Given the description of an element on the screen output the (x, y) to click on. 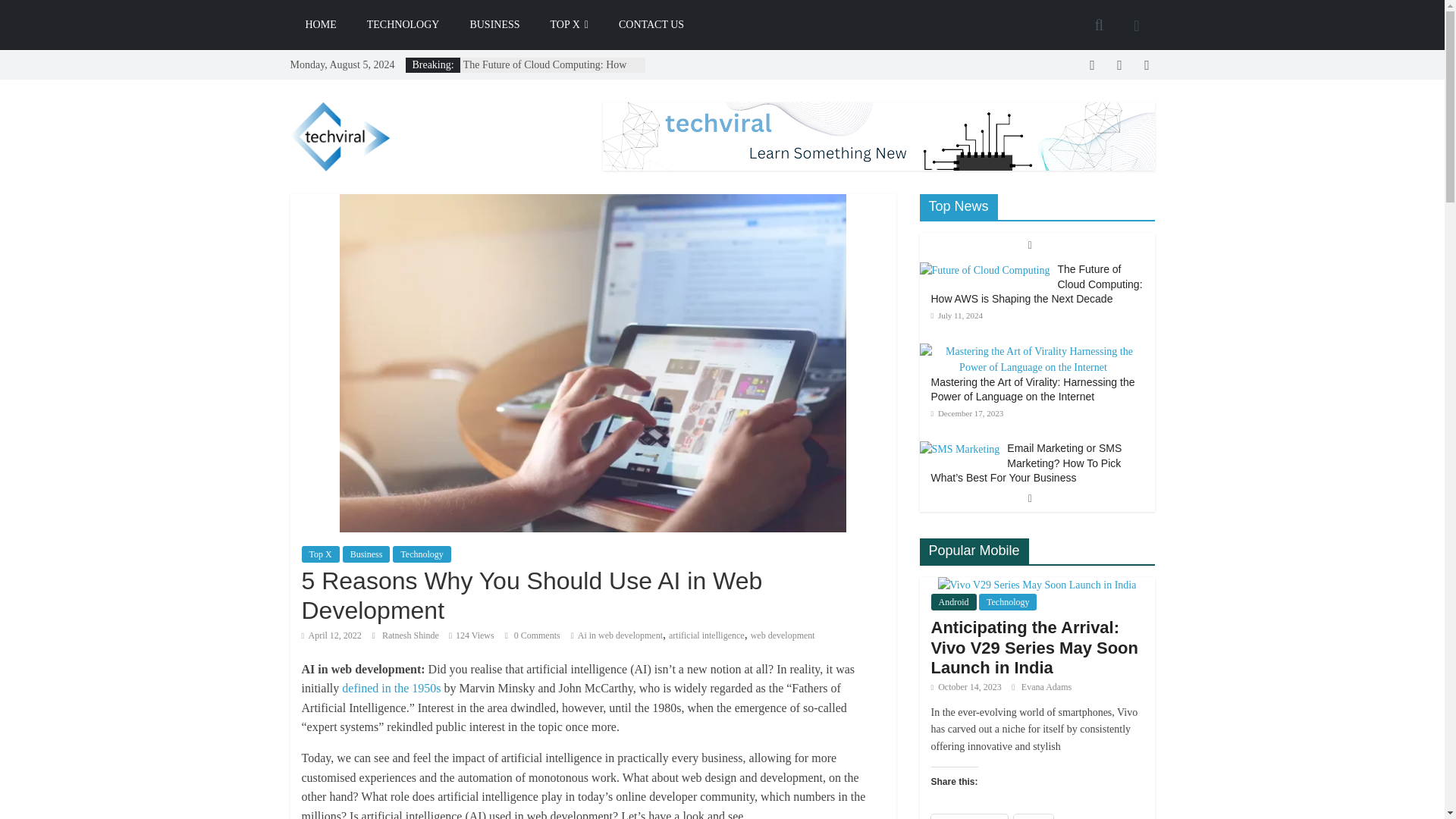
Top X (320, 554)
BUSINESS (494, 24)
defined in the 1950s (391, 687)
web development (783, 634)
5:42 pm (331, 634)
TECHNOLOGY (403, 24)
Business (366, 554)
April 12, 2022 (331, 634)
Ai in web development (620, 634)
CONTACT US (651, 24)
TOP X (569, 24)
Ratnesh Shinde (411, 634)
HOME (319, 24)
